Given the description of an element on the screen output the (x, y) to click on. 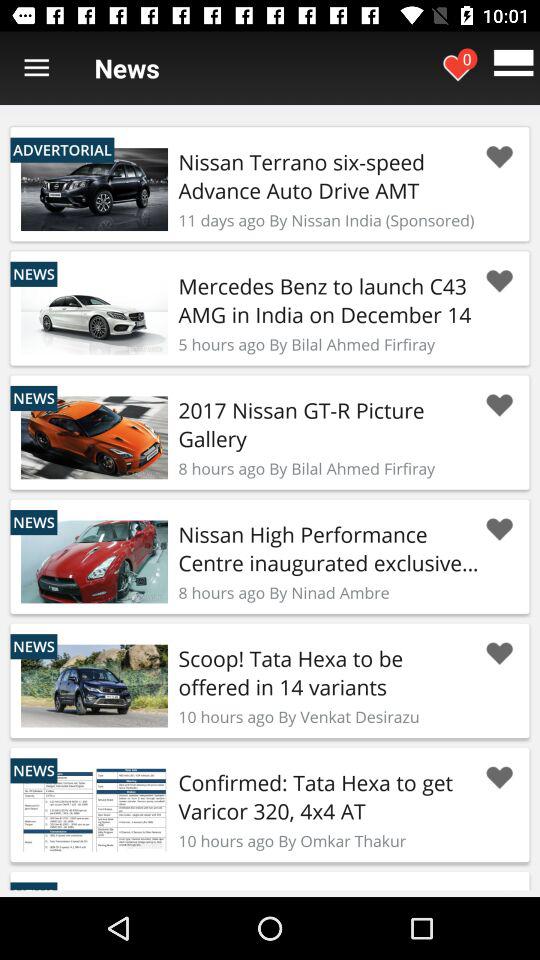
favorite news (499, 653)
